Given the description of an element on the screen output the (x, y) to click on. 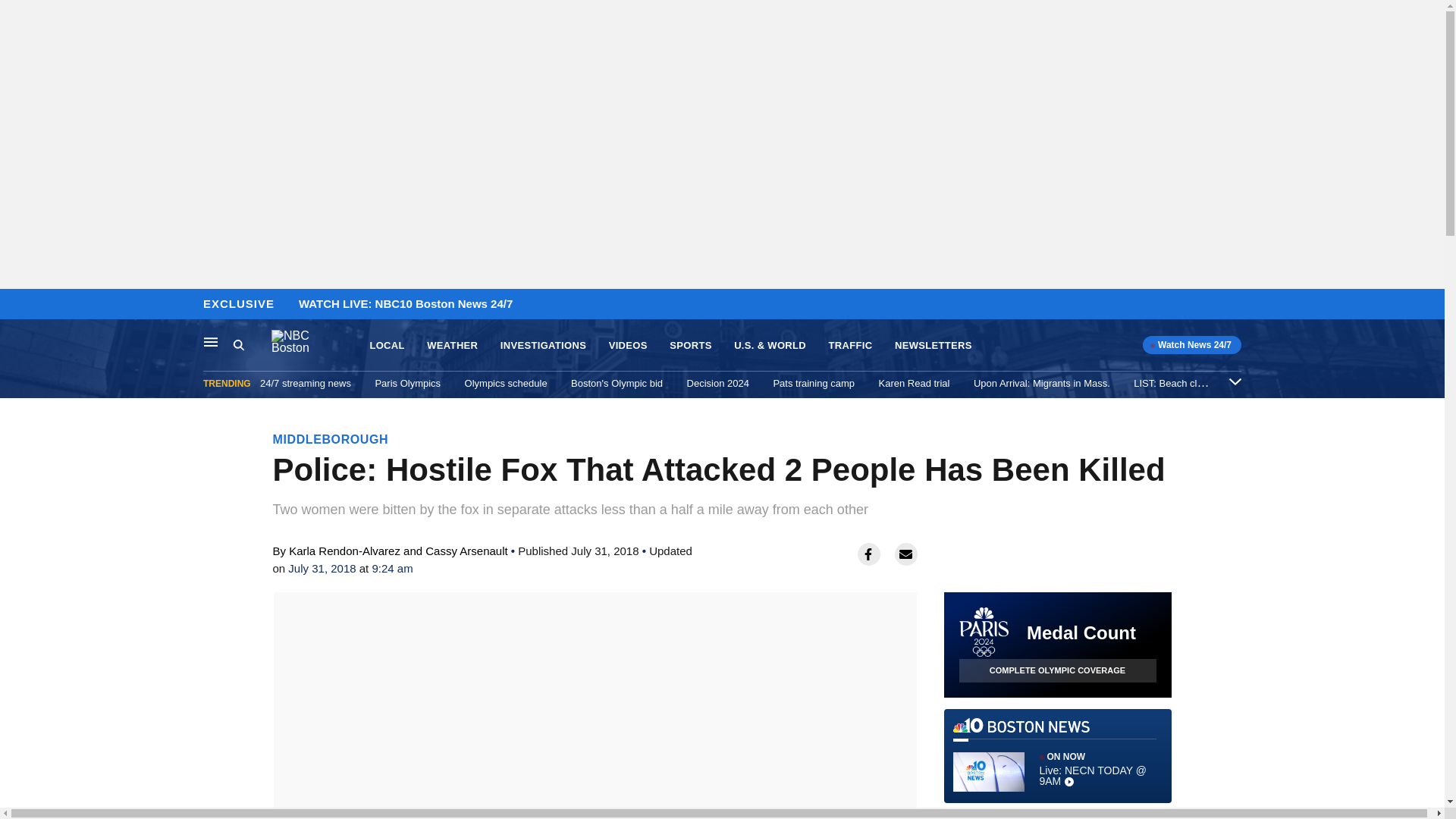
LIST: Beach closures (1179, 383)
TRAFFIC (850, 345)
VIDEOS (627, 345)
Skip to content (16, 304)
Olympics schedule (505, 383)
Karen Read trial (914, 383)
Boston's Olympic bid (616, 383)
Search (238, 344)
SPORTS (690, 345)
NEWSLETTERS (933, 345)
Main Navigation (210, 341)
MIDDLEBOROUGH (330, 439)
Pats training camp (813, 383)
INVESTIGATIONS (543, 345)
LOCAL (386, 345)
